Given the description of an element on the screen output the (x, y) to click on. 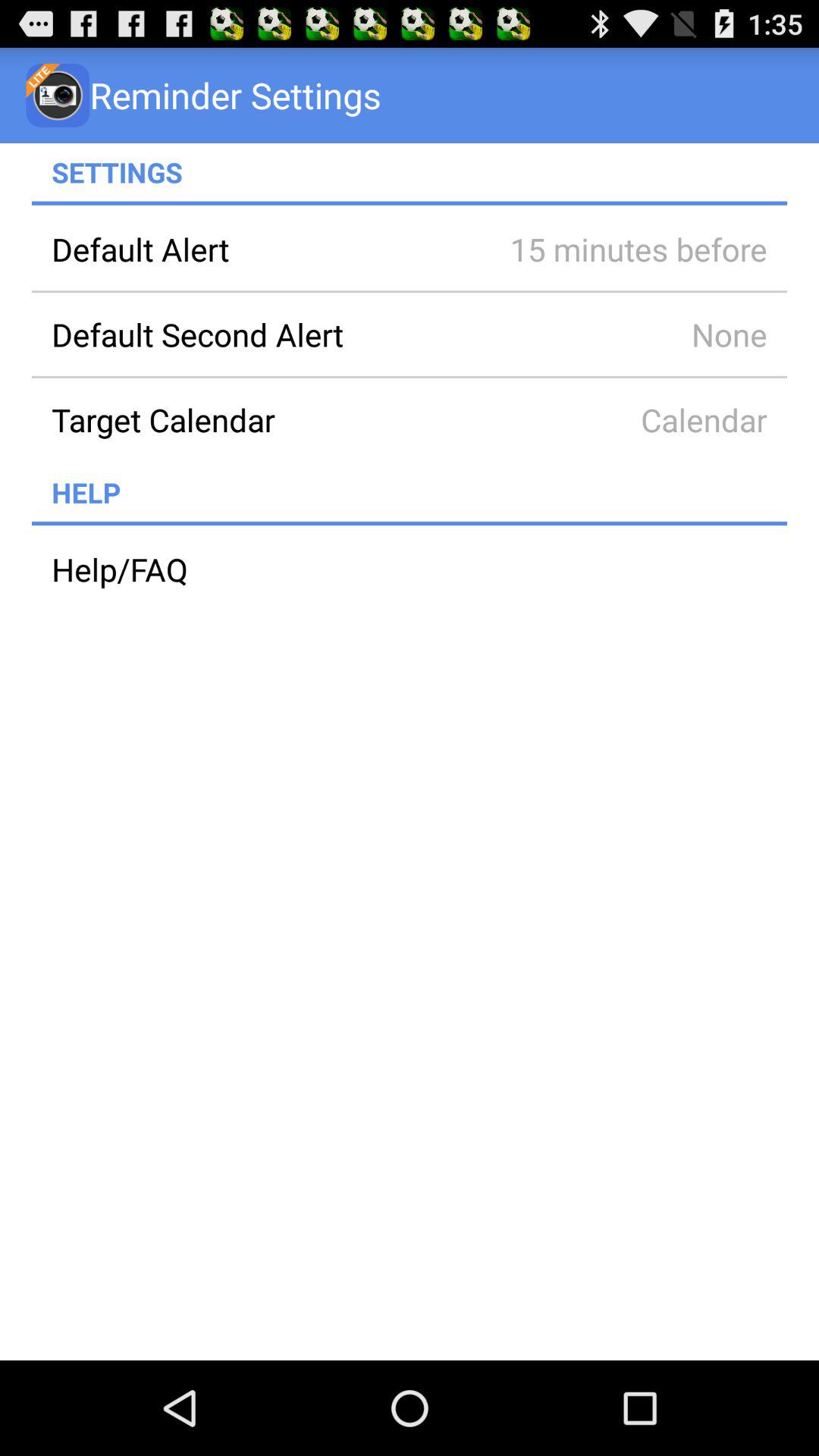
tap app above the help/faq app (409, 523)
